Given the description of an element on the screen output the (x, y) to click on. 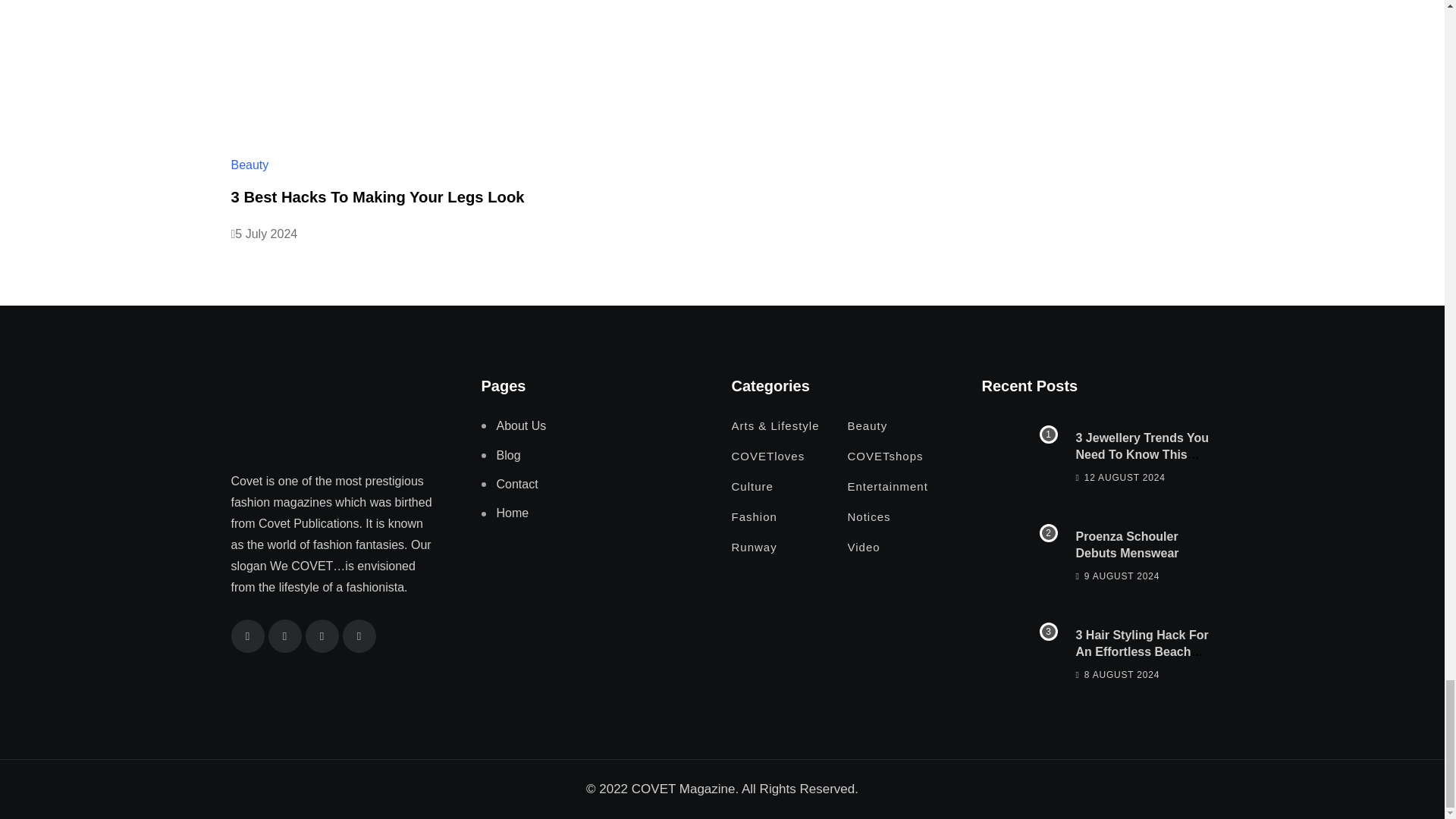
3 Jewellery Trends You Need To Know This 2024 (1019, 455)
Proenza Schouler Debuts Menswear (1019, 554)
3 Hair Styling Hack For An Effortless Beach Hair (1019, 653)
